Given the description of an element on the screen output the (x, y) to click on. 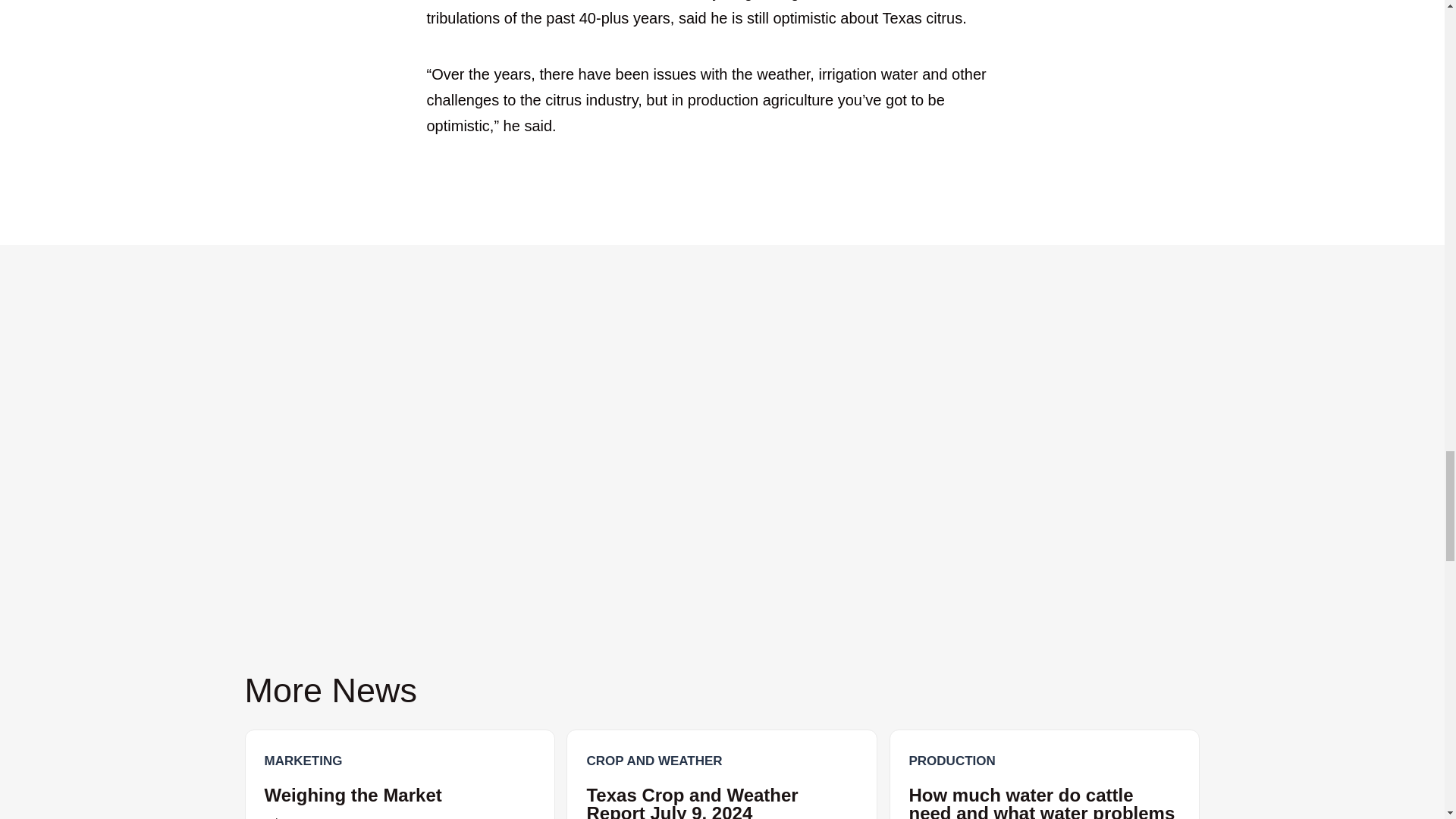
View Box Content (399, 774)
View Box Content (721, 774)
View Box Content (1044, 774)
Texas Crop and Weather Report July 9, 2024 (691, 801)
Weighing the Market (352, 794)
